Given the description of an element on the screen output the (x, y) to click on. 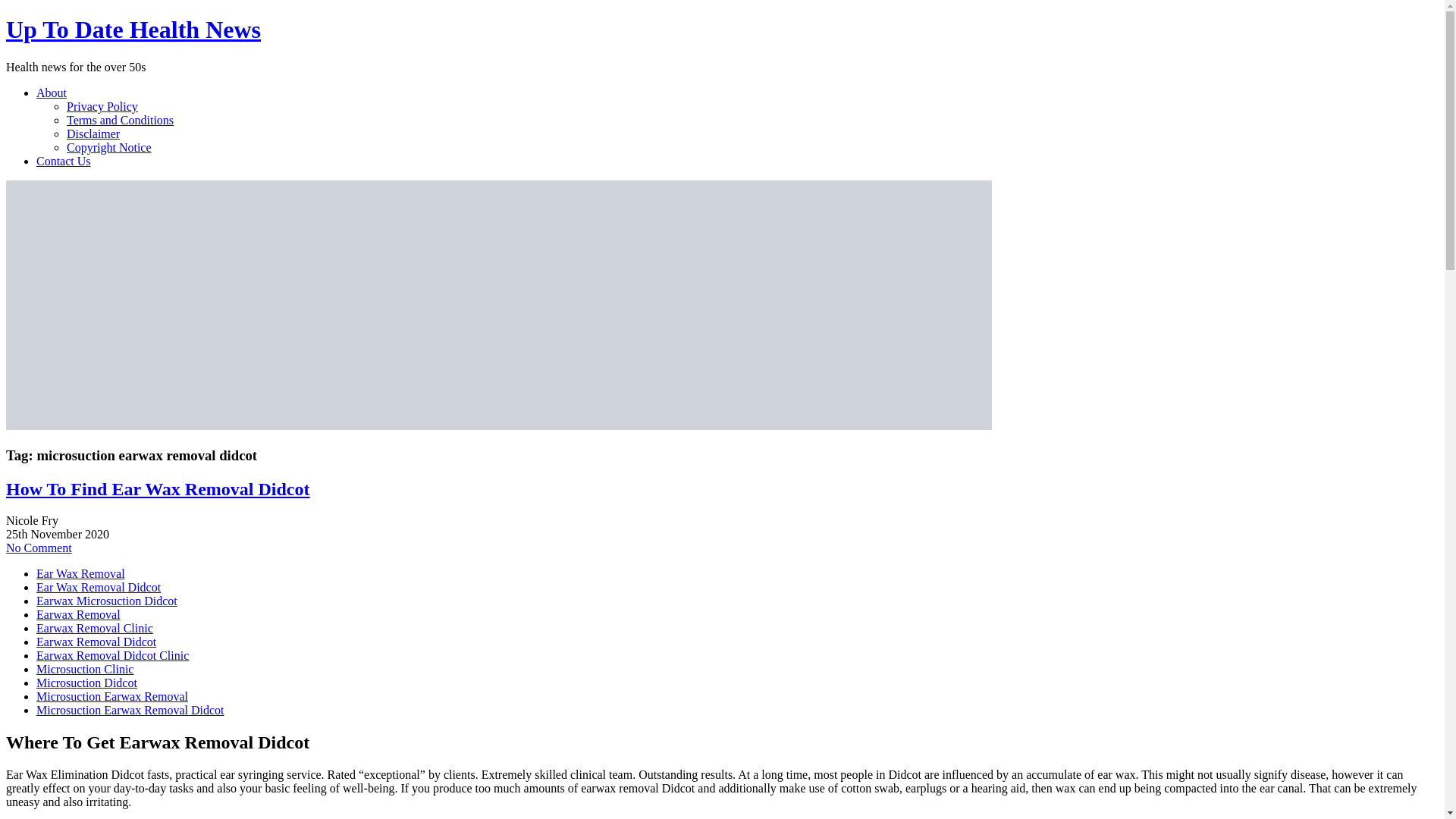
Earwax Microsuction Didcot (106, 600)
Earwax Removal Didcot Clinic (112, 655)
Ear Wax Removal Didcot (98, 586)
Copyright Notice (108, 146)
Ear Wax Removal (80, 573)
Contact Us (63, 160)
Disclaimer (92, 133)
Microsuction Earwax Removal (111, 696)
Earwax Removal Didcot (95, 641)
Privacy Policy (102, 106)
About (51, 92)
Microsuction Clinic (84, 668)
Microsuction Earwax Removal Didcot (130, 709)
Earwax Removal (78, 614)
No Comment (38, 547)
